Given the description of an element on the screen output the (x, y) to click on. 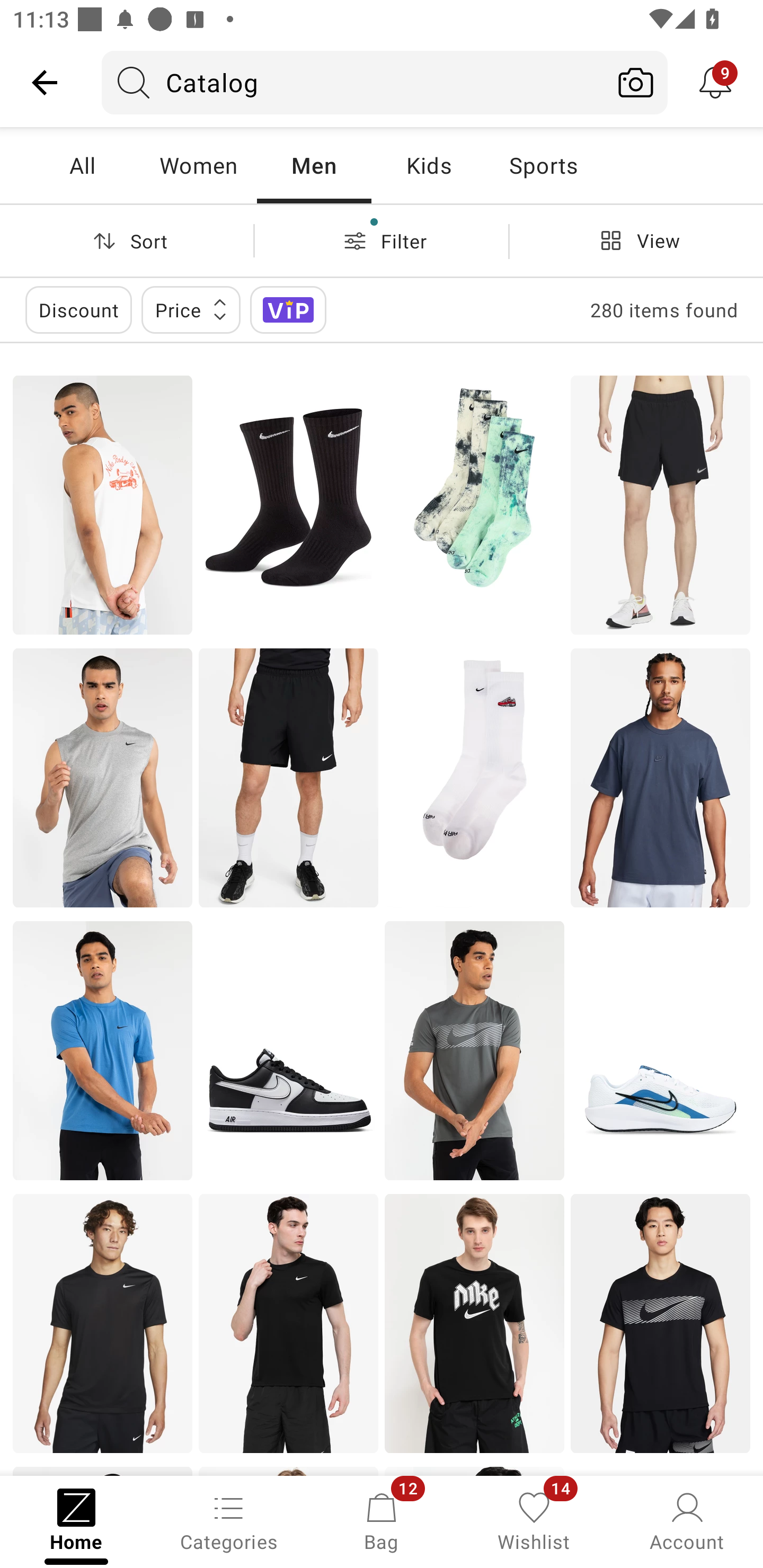
Navigate up (44, 82)
Catalog (352, 82)
All (82, 165)
Women (198, 165)
Kids (428, 165)
Sports (543, 165)
Sort (126, 240)
Filter (381, 240)
View (636, 240)
Discount (78, 309)
Price (190, 309)
Categories (228, 1519)
Bag, 12 new notifications Bag (381, 1519)
Wishlist, 14 new notifications Wishlist (533, 1519)
Account (686, 1519)
